Given the description of an element on the screen output the (x, y) to click on. 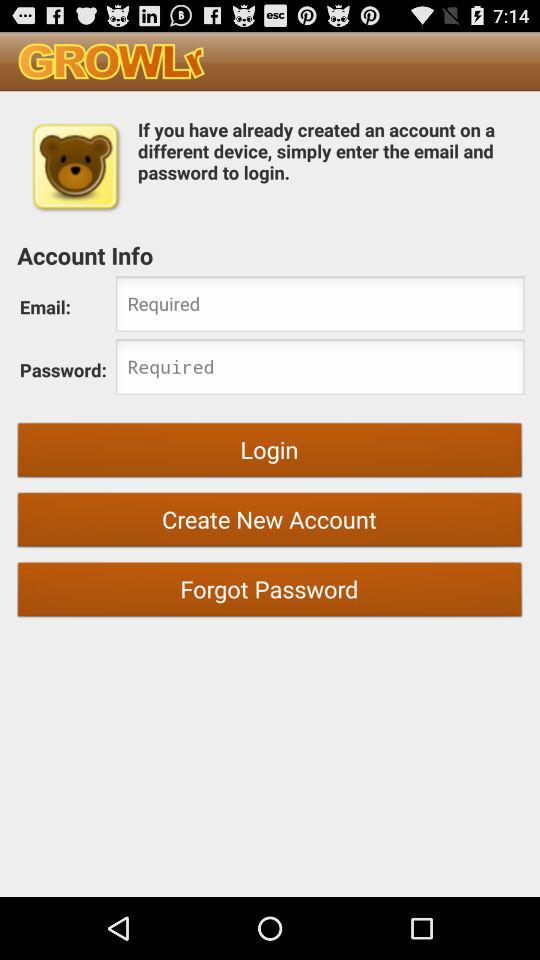
enter email (319, 306)
